Given the description of an element on the screen output the (x, y) to click on. 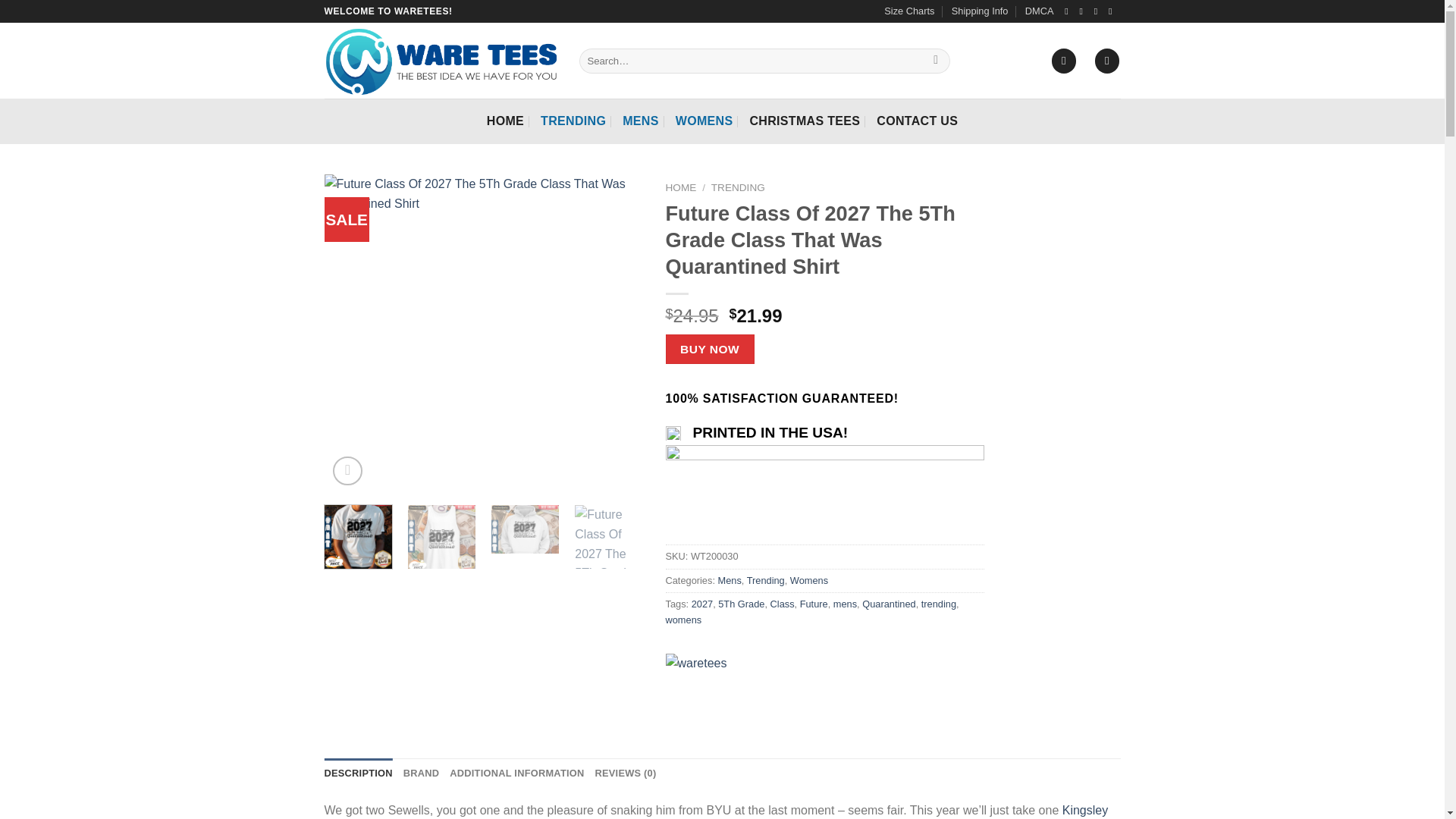
Zoom (347, 471)
Search (936, 61)
HOME (681, 187)
Trending (765, 580)
Follow on Twitter (1098, 10)
MENS (641, 121)
BUY NOW (709, 348)
Mens (729, 580)
Shipping Info (980, 11)
Follow on Facebook (1069, 10)
DMCA (1039, 11)
WARE TEES (705, 677)
WOMENS (704, 121)
